Given the description of an element on the screen output the (x, y) to click on. 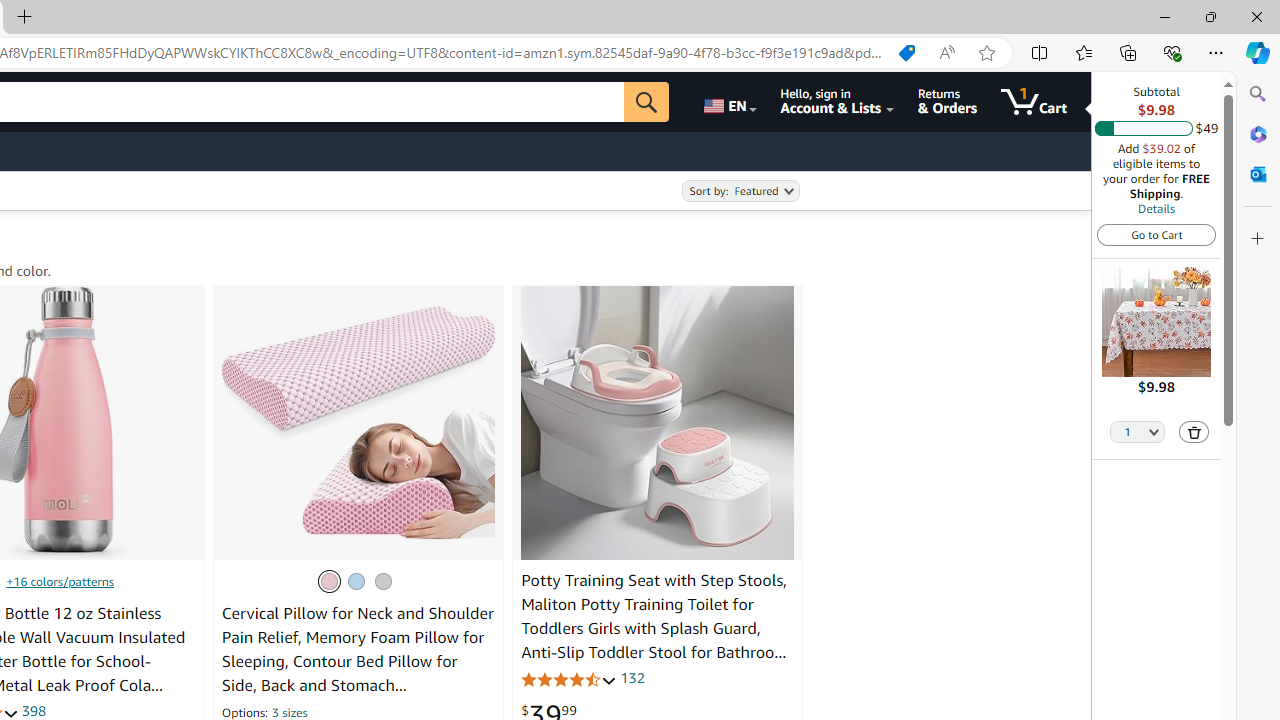
Delete (1194, 431)
Returns & Orders (946, 101)
+16 colors/patterns (60, 580)
Grey (382, 580)
Customize (1258, 239)
398 (33, 710)
